Given the description of an element on the screen output the (x, y) to click on. 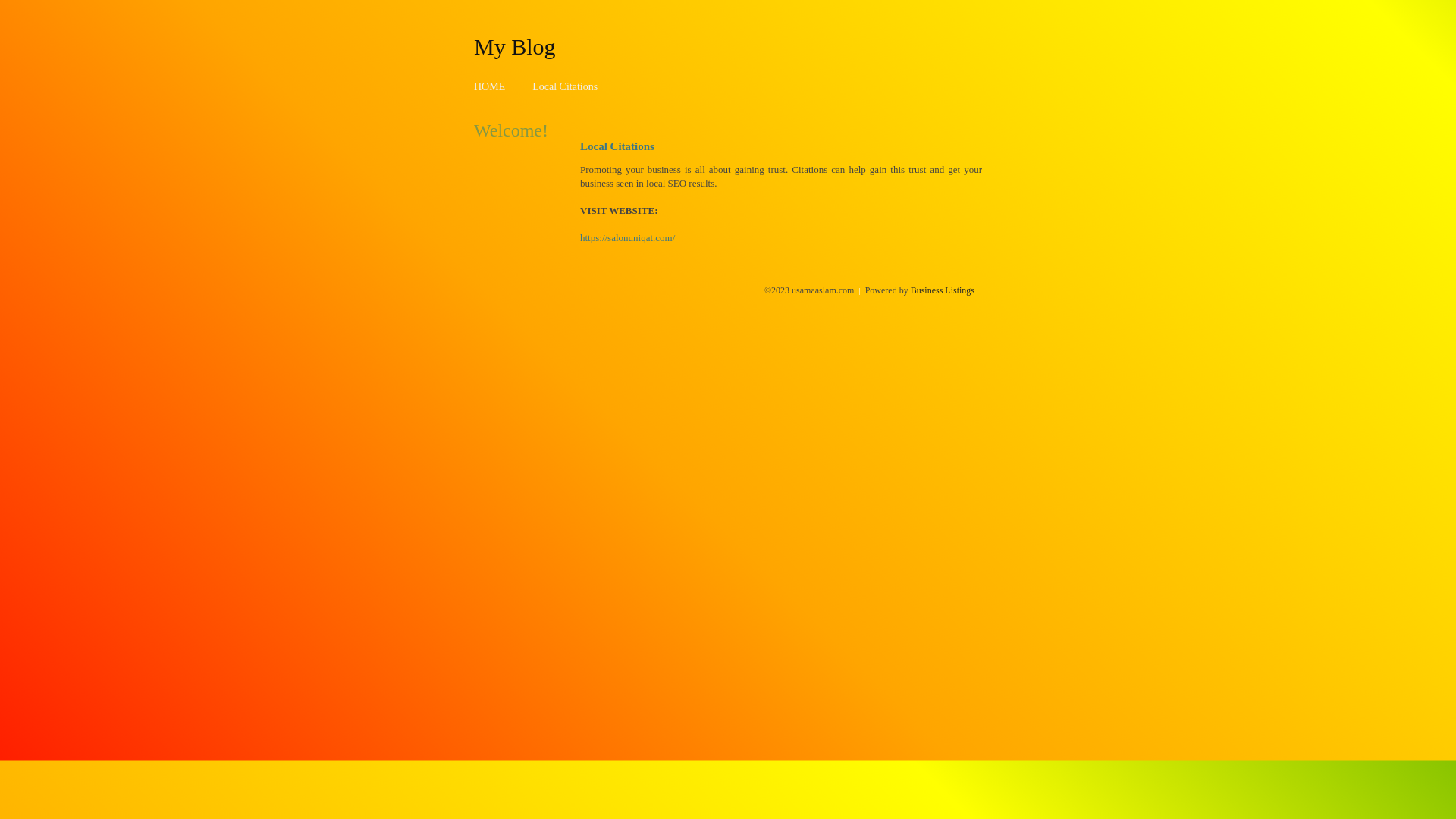
https://salonuniqat.com/ Element type: text (627, 237)
Business Listings Element type: text (942, 290)
My Blog Element type: text (514, 46)
Local Citations Element type: text (564, 86)
HOME Element type: text (489, 86)
